Given the description of an element on the screen output the (x, y) to click on. 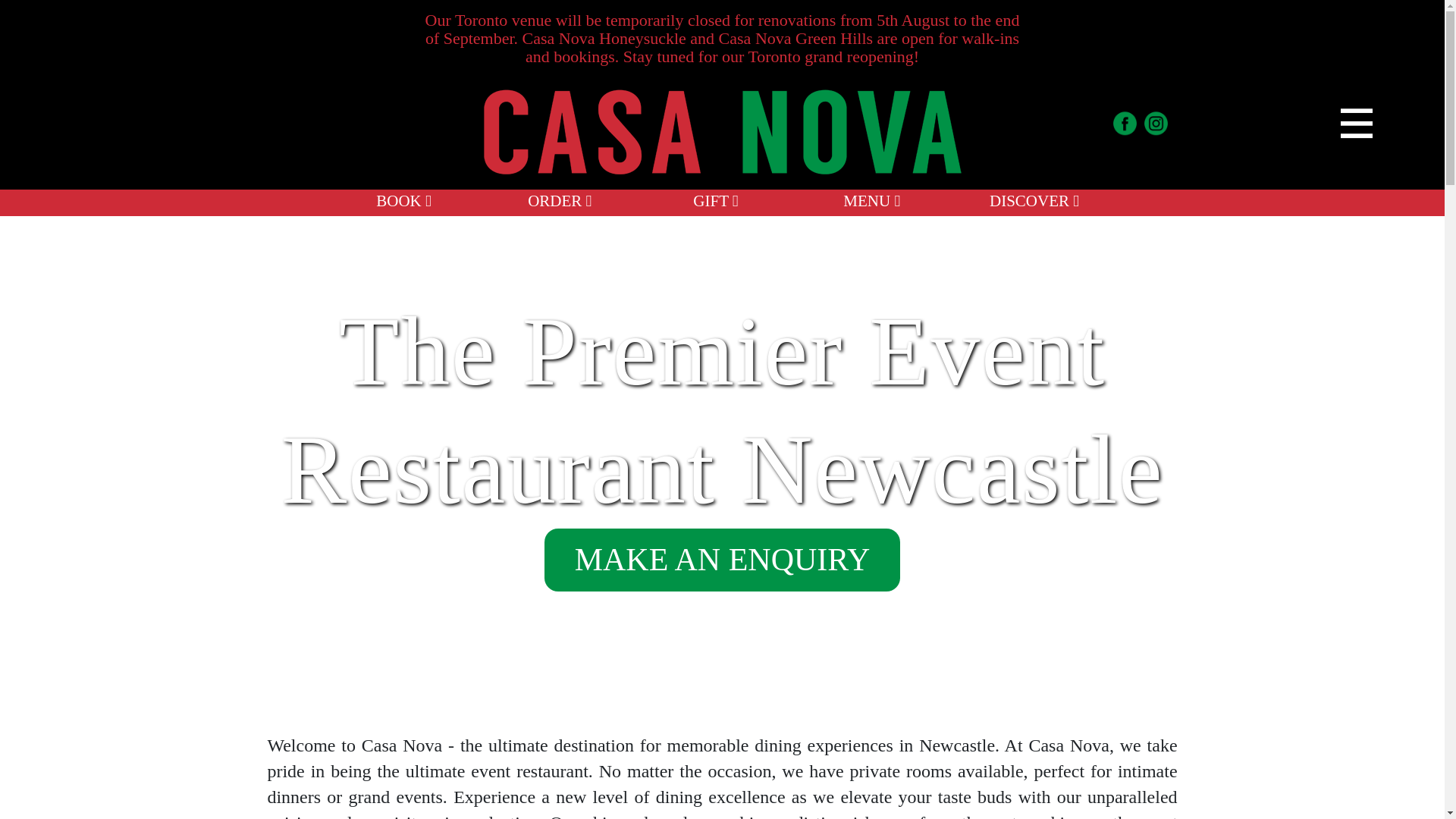
BOOK (402, 200)
ORDER (559, 200)
GIFT (715, 200)
MENU (871, 200)
